Given the description of an element on the screen output the (x, y) to click on. 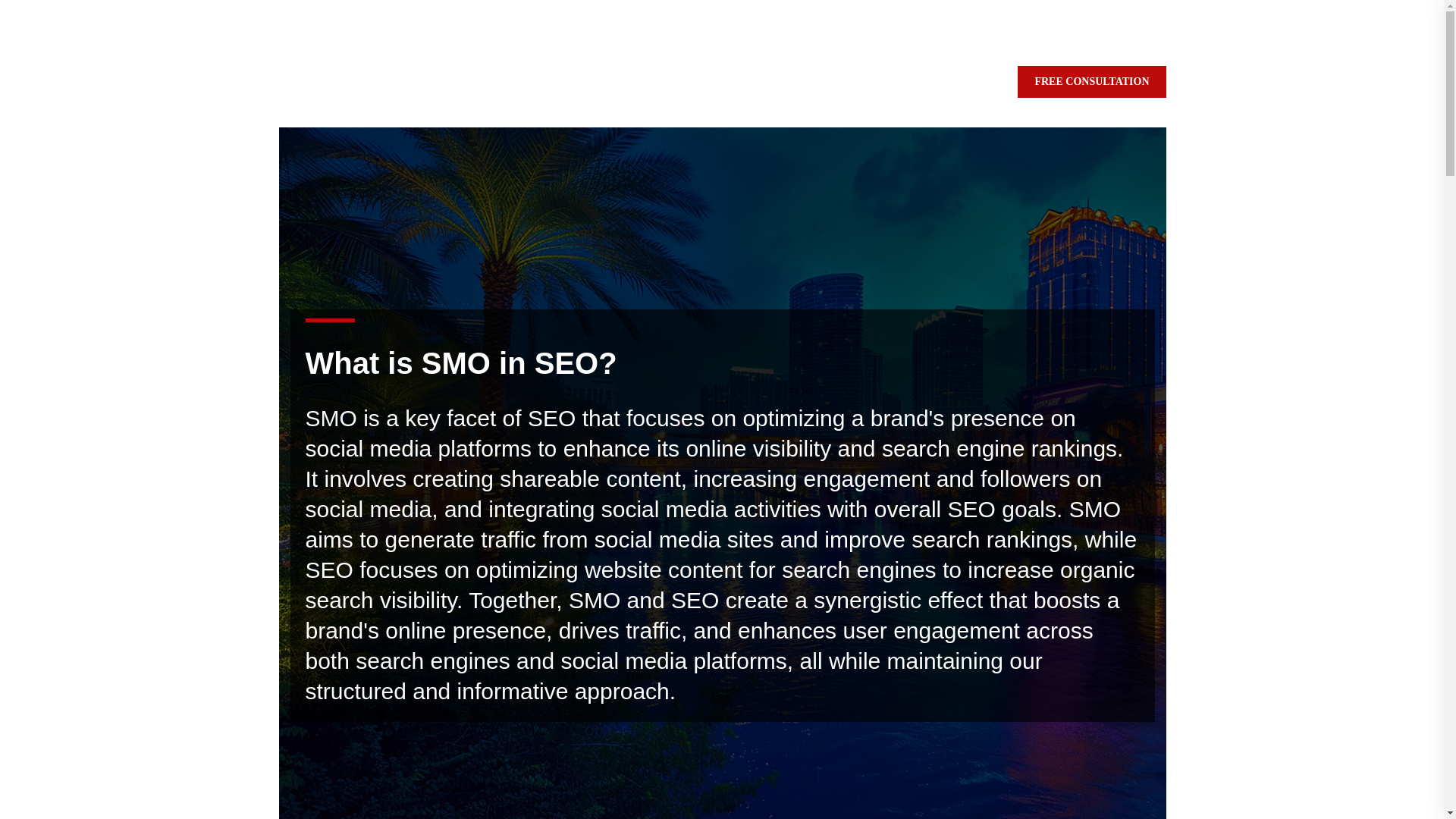
727-276-4458 (317, 18)
SEO Marketing Services (532, 83)
